Given the description of an element on the screen output the (x, y) to click on. 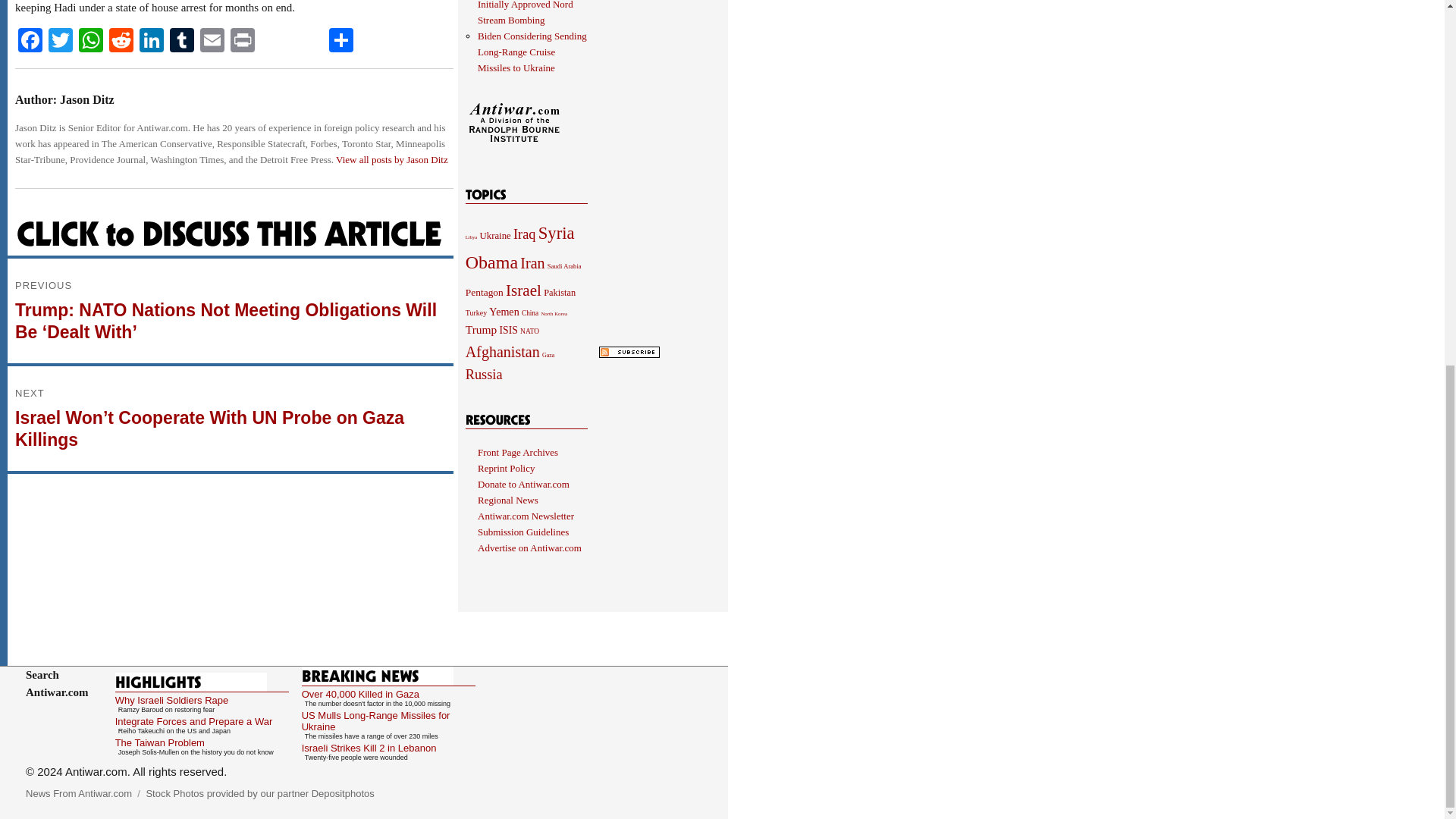
Facebook (29, 41)
Tumblr (181, 41)
Print (242, 41)
LinkedIn (151, 41)
LinkedIn (151, 41)
WhatsApp (90, 41)
Reddit (121, 41)
Facebook (29, 41)
Email (211, 41)
Twitter (60, 41)
